Given the description of an element on the screen output the (x, y) to click on. 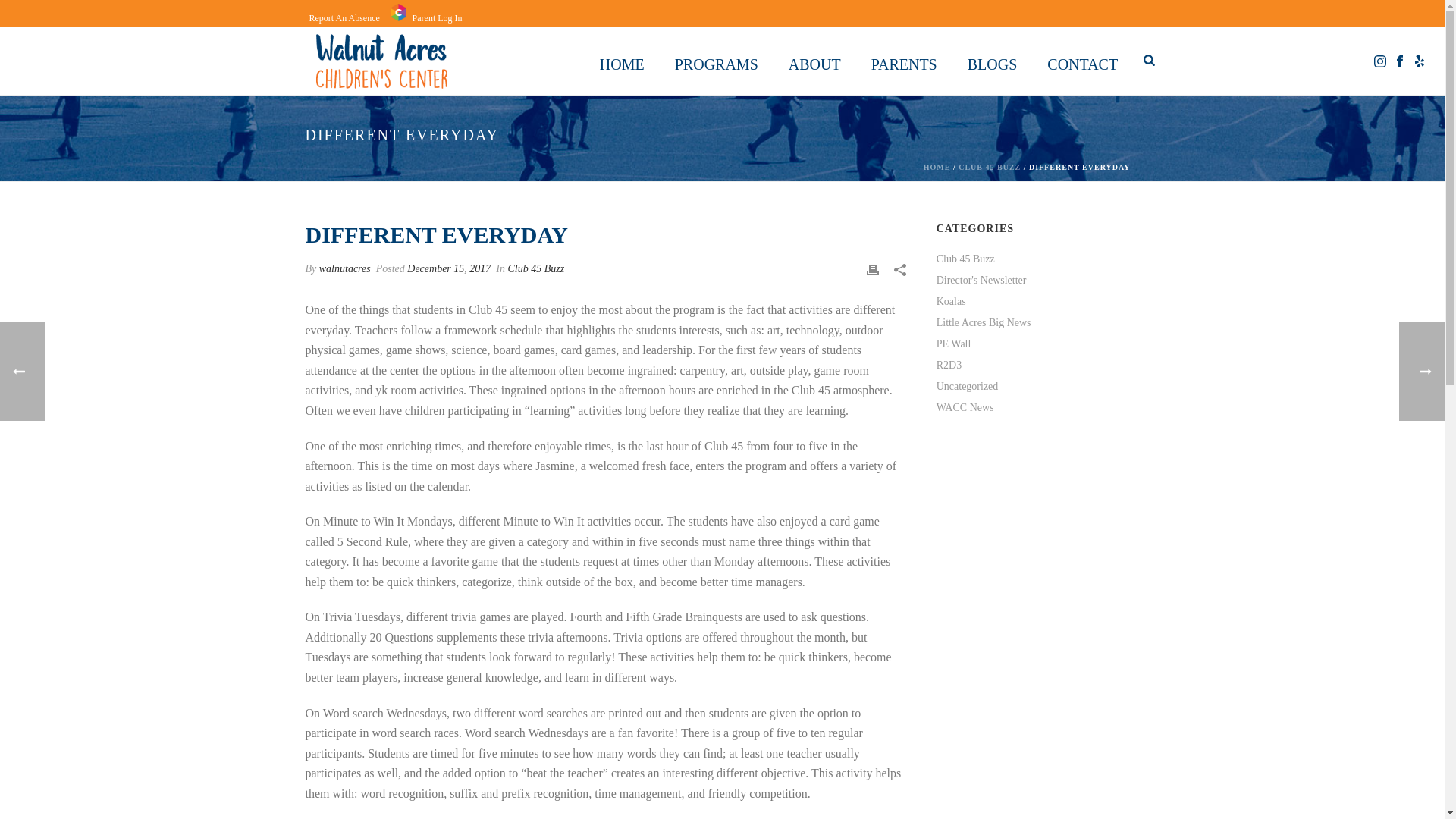
CONTACT (1082, 60)
CONTACT (1082, 60)
PARENTS (904, 60)
HOME (622, 60)
BLOGS (992, 60)
HOME (622, 60)
ABOUT (814, 60)
BLOGS (992, 60)
PROGRAMS (716, 60)
Posts by walnutacres (344, 268)
PROGRAMS (716, 60)
Learning through Play since 1978 (380, 60)
ABOUT (814, 60)
Report An Absence (344, 18)
PARENTS (904, 60)
